Given the description of an element on the screen output the (x, y) to click on. 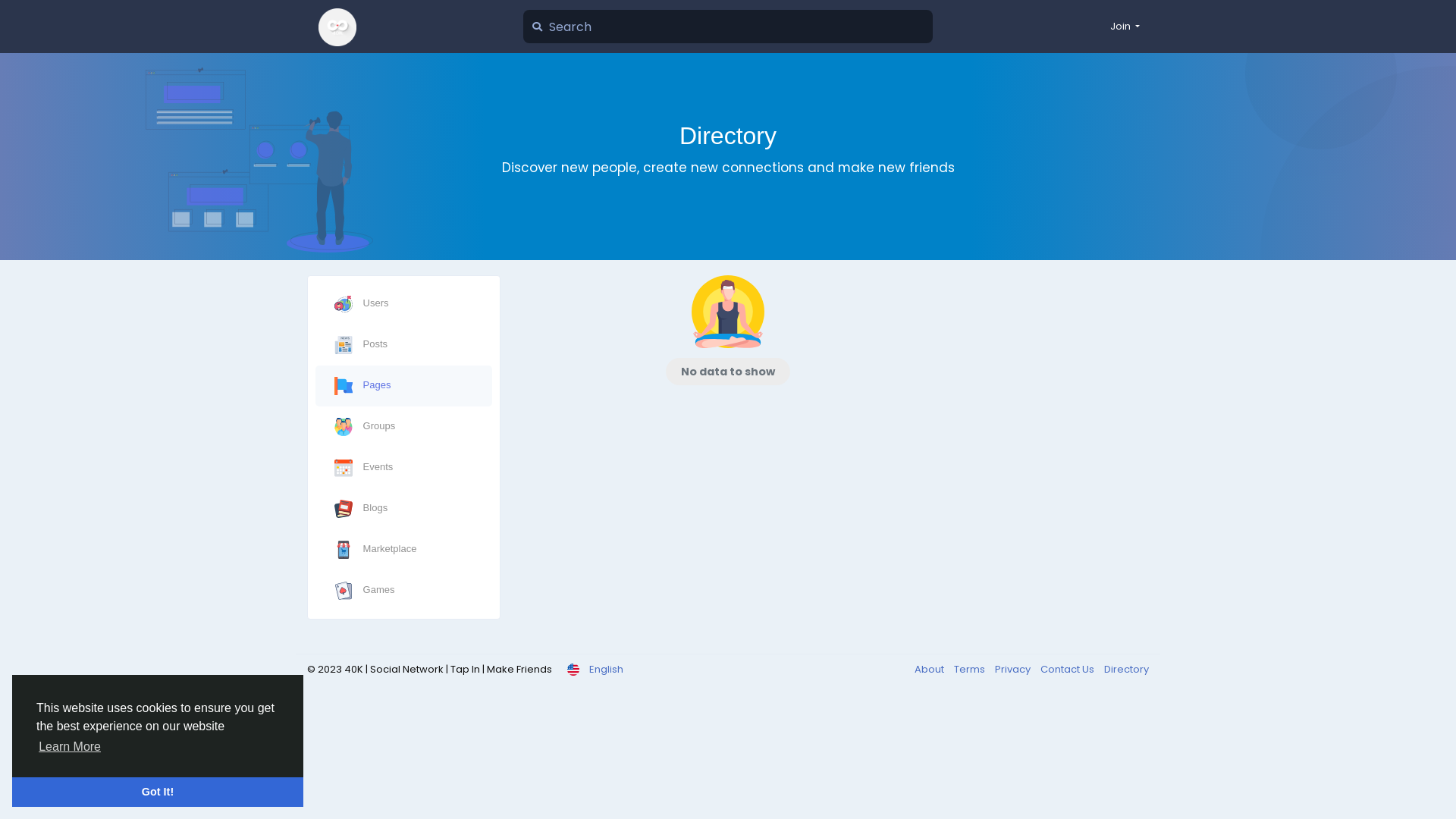
Marketplace Element type: text (403, 549)
Pages Element type: text (403, 385)
Blogs Element type: text (403, 508)
Contact Us Element type: text (1064, 669)
English Element type: text (595, 668)
Posts Element type: text (403, 344)
Games Element type: text (403, 590)
Directory Element type: text (1122, 669)
About Element type: text (930, 669)
Got It! Element type: text (157, 791)
Privacy Element type: text (1009, 669)
40K | Social Network | Tap In | Make Friends Element type: hover (337, 27)
Learn More Element type: text (69, 746)
Events Element type: text (403, 467)
Users Element type: text (403, 303)
Join Element type: text (1124, 26)
Groups Element type: text (403, 426)
Terms Element type: text (966, 669)
